Given the description of an element on the screen output the (x, y) to click on. 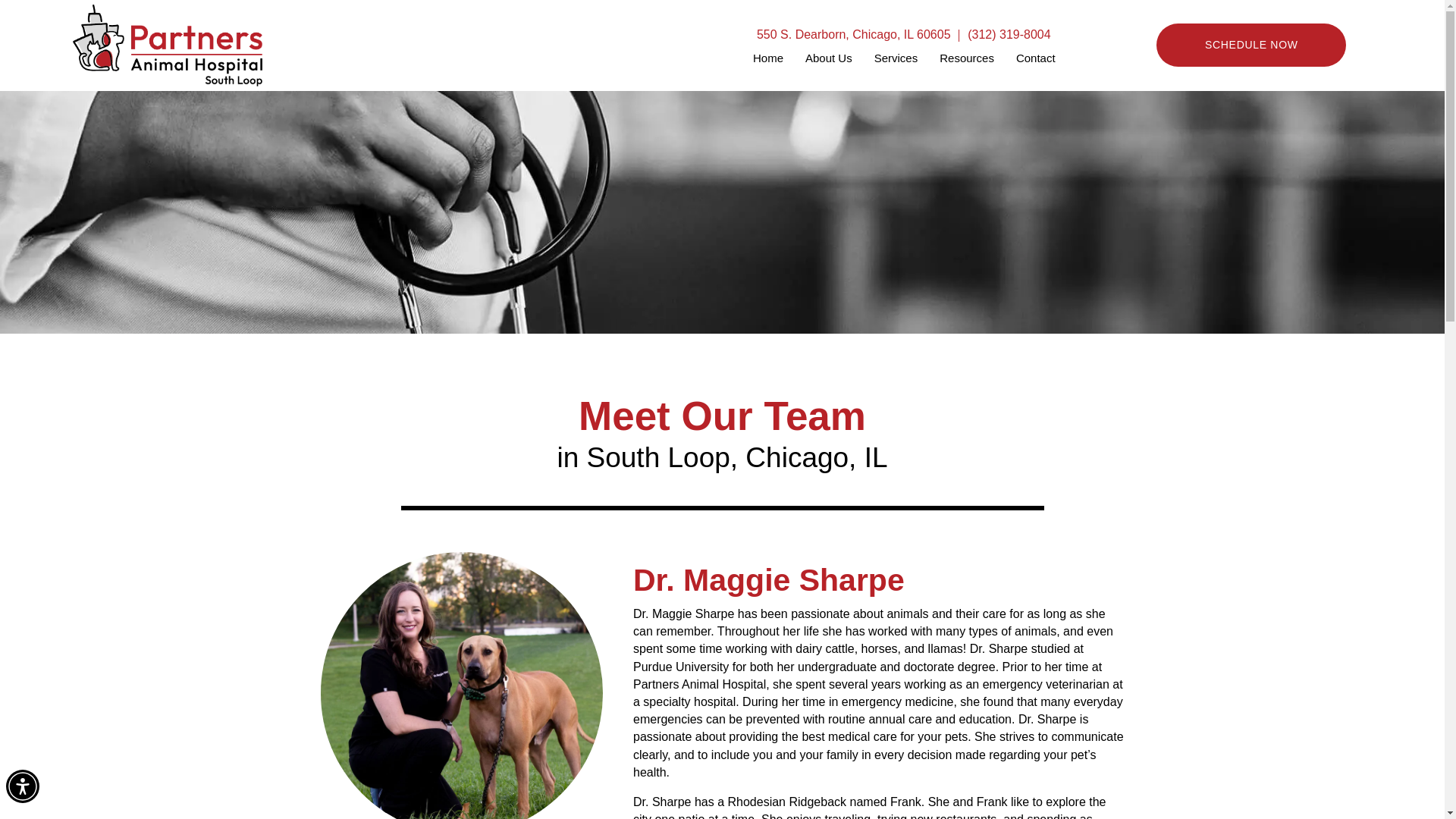
550 S. Dearborn, Chicago, IL 60605 (853, 33)
Partners South Loop Horizontal (167, 45)
Contact (1035, 58)
SCHEDULE NOW (1250, 44)
Sharpe Bio (461, 685)
Services (895, 58)
Accessibility Menu (22, 786)
Home (767, 58)
Resources (966, 58)
About Us (828, 58)
